Given the description of an element on the screen output the (x, y) to click on. 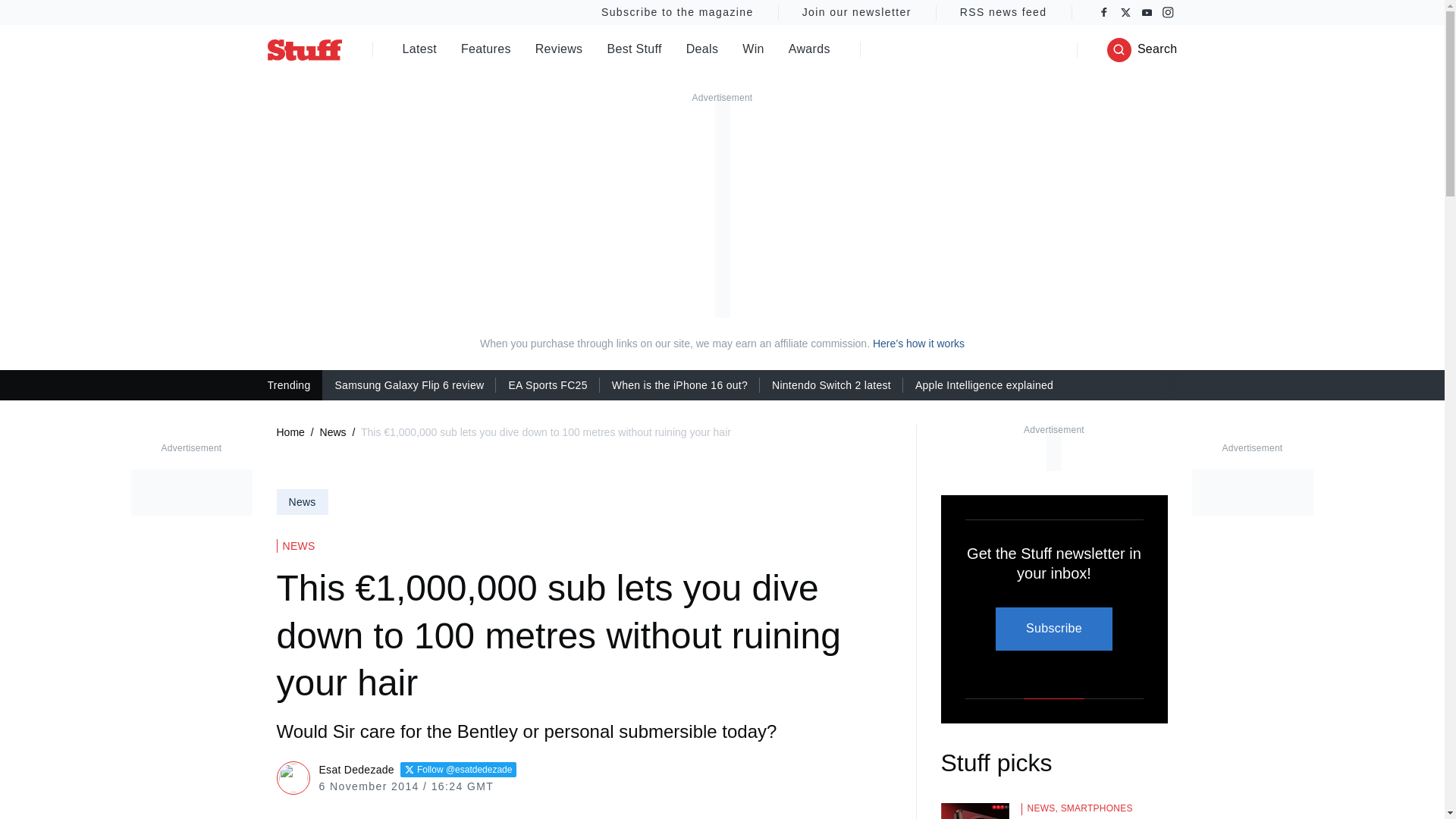
Best Stuff (634, 50)
Stuff (303, 49)
Samsung Galaxy Flip 6 review (408, 384)
Reviews (559, 50)
Deals (702, 50)
Latest (418, 50)
Facebook (1103, 12)
Subscribe to the magazine (676, 11)
Instagram (1167, 12)
Twitter (1125, 12)
When is the iPhone 16 out? (679, 384)
YouTube (1146, 12)
Search (1141, 49)
Awards (809, 50)
EA Sports FC25 (547, 384)
